Given the description of an element on the screen output the (x, y) to click on. 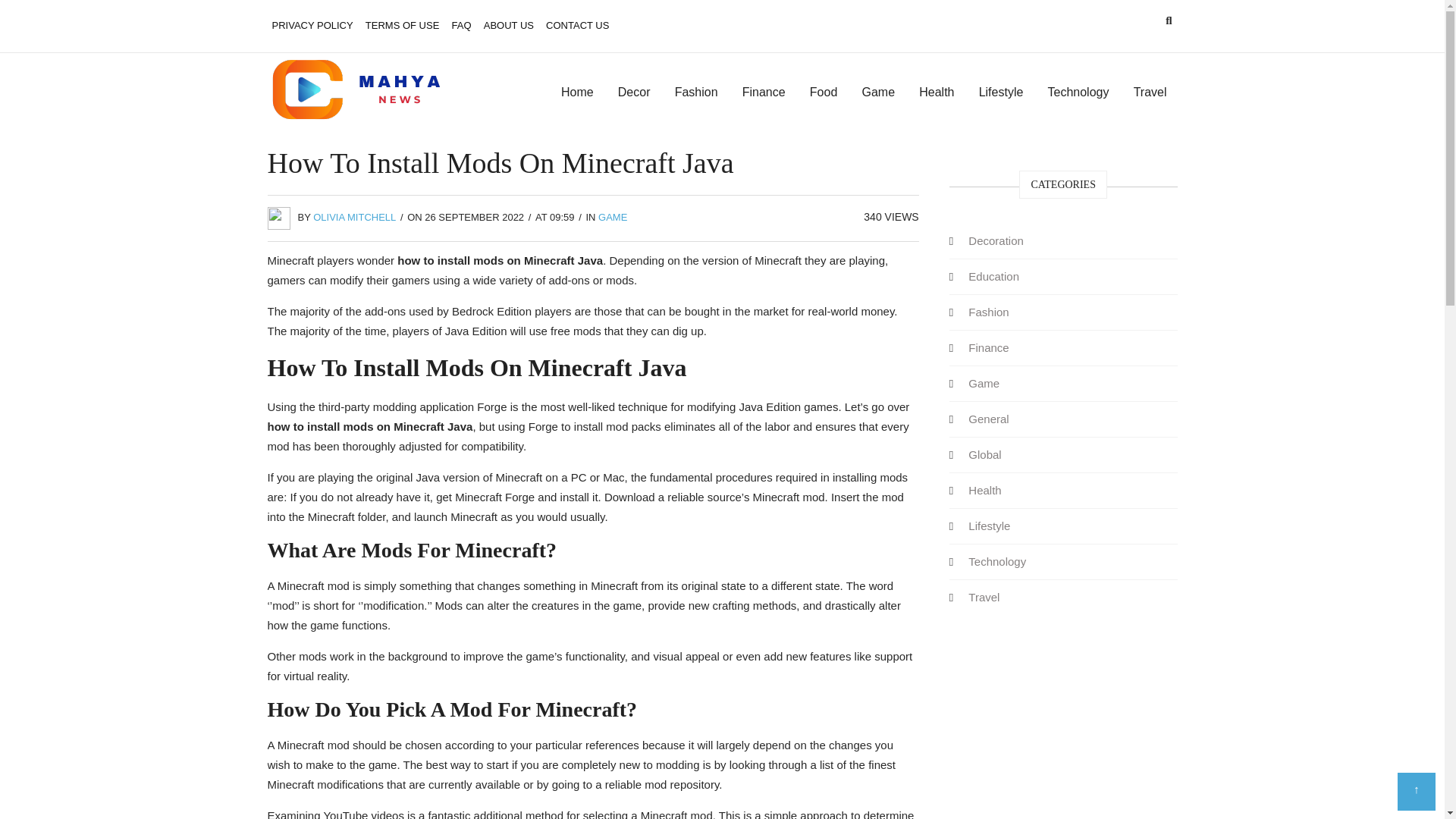
Finance (988, 347)
General (988, 419)
Home (577, 92)
Fashion (988, 311)
ABOUT US (508, 25)
PRIVACY POLICY (311, 25)
Health (984, 490)
GAME (612, 216)
FAQ (461, 25)
Lifestyle (1000, 92)
